Given the description of an element on the screen output the (x, y) to click on. 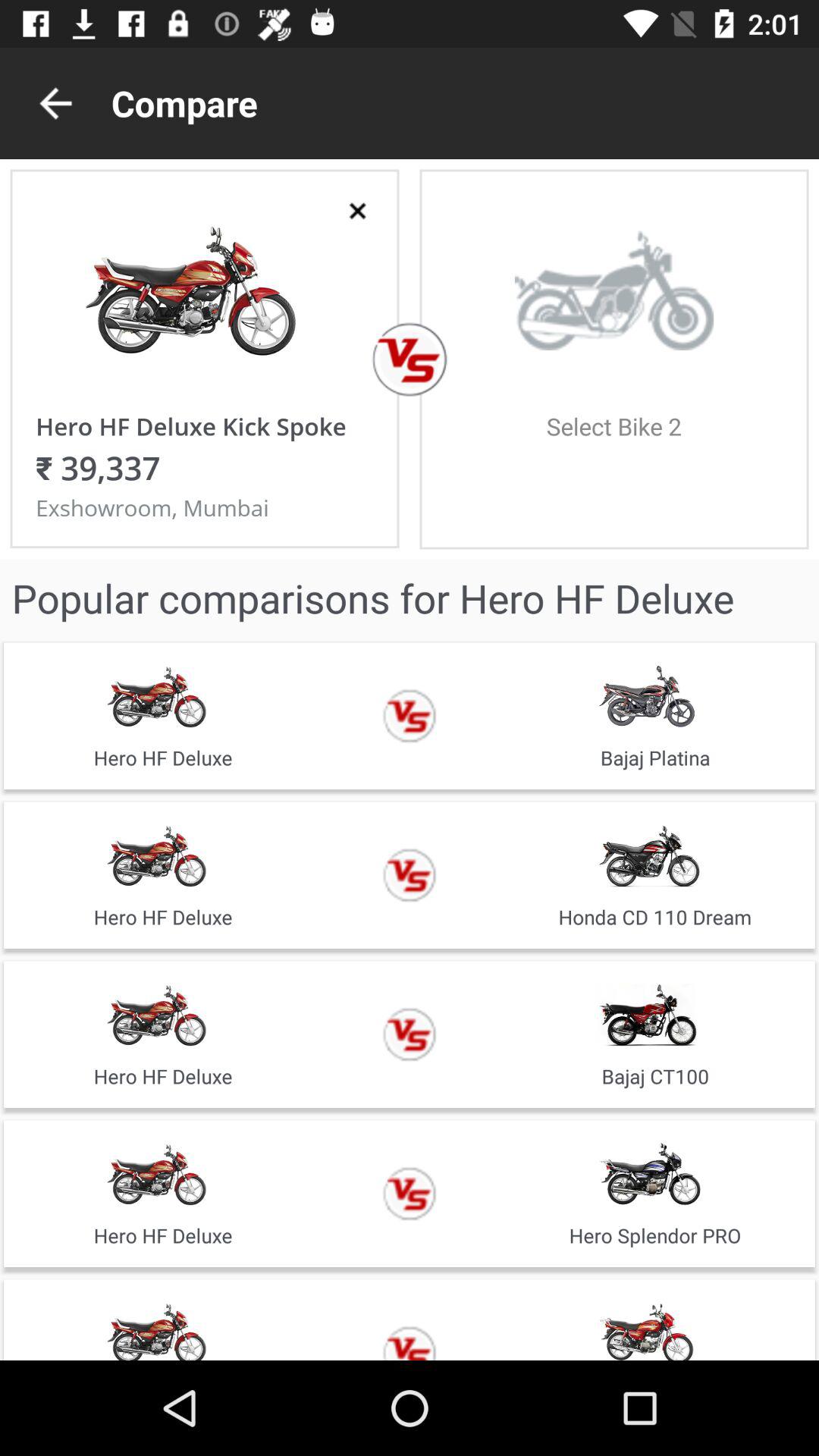
delete selected option (357, 210)
